Given the description of an element on the screen output the (x, y) to click on. 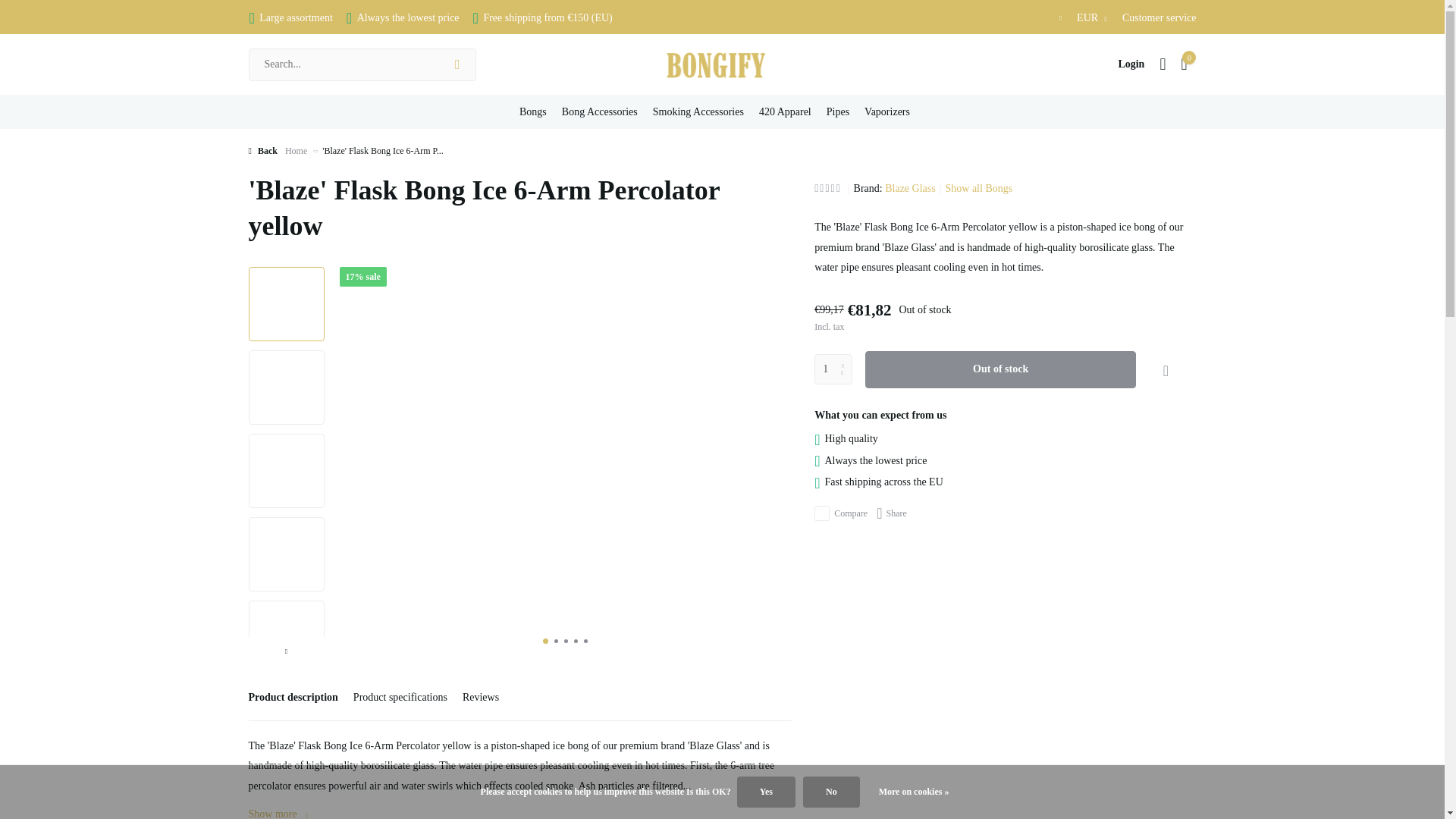
Bongify (721, 64)
Login (1131, 64)
1 (832, 368)
Customer service (1159, 17)
Search (456, 64)
